Given the description of an element on the screen output the (x, y) to click on. 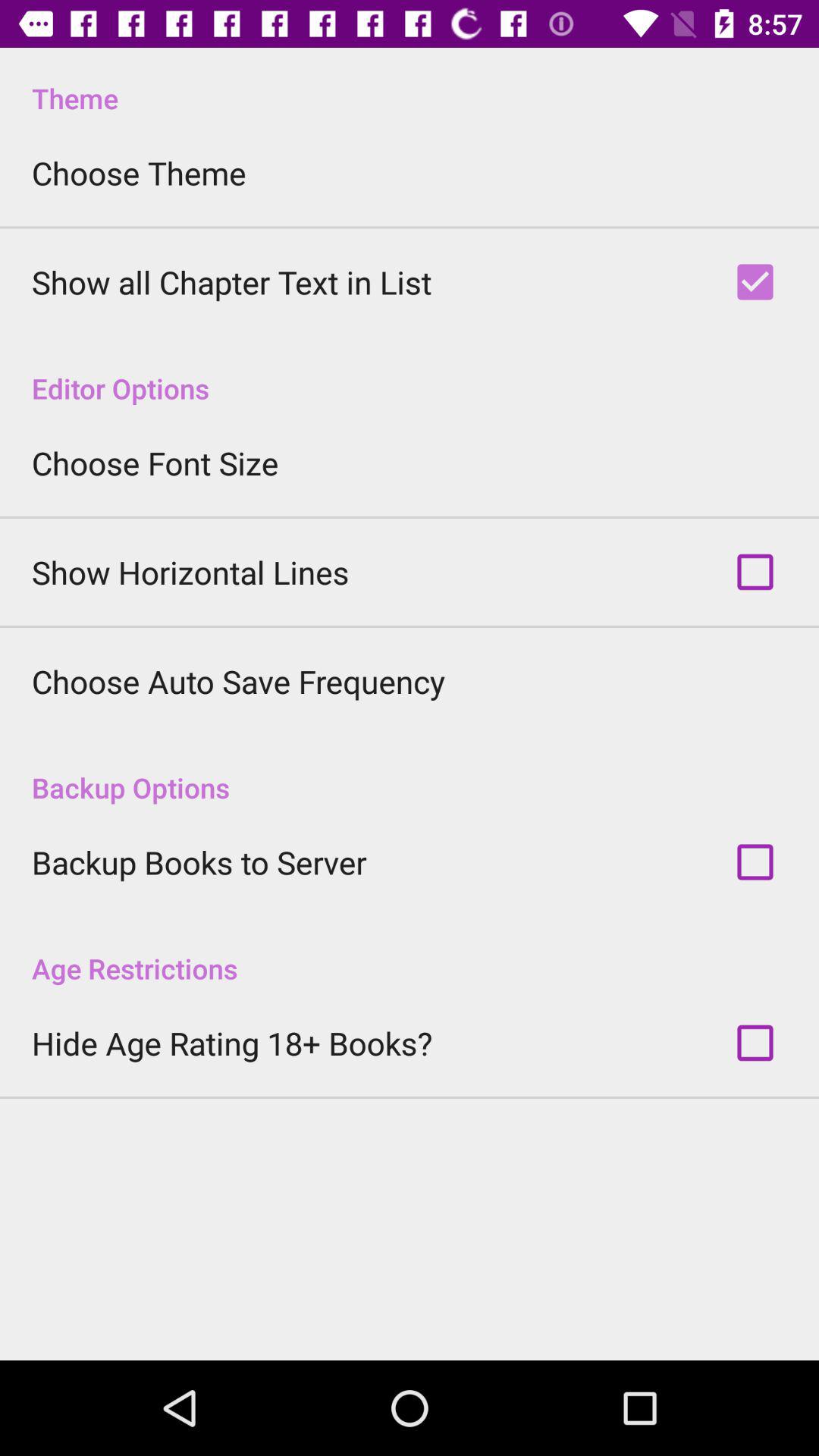
turn off the app above age restrictions app (198, 861)
